Given the description of an element on the screen output the (x, y) to click on. 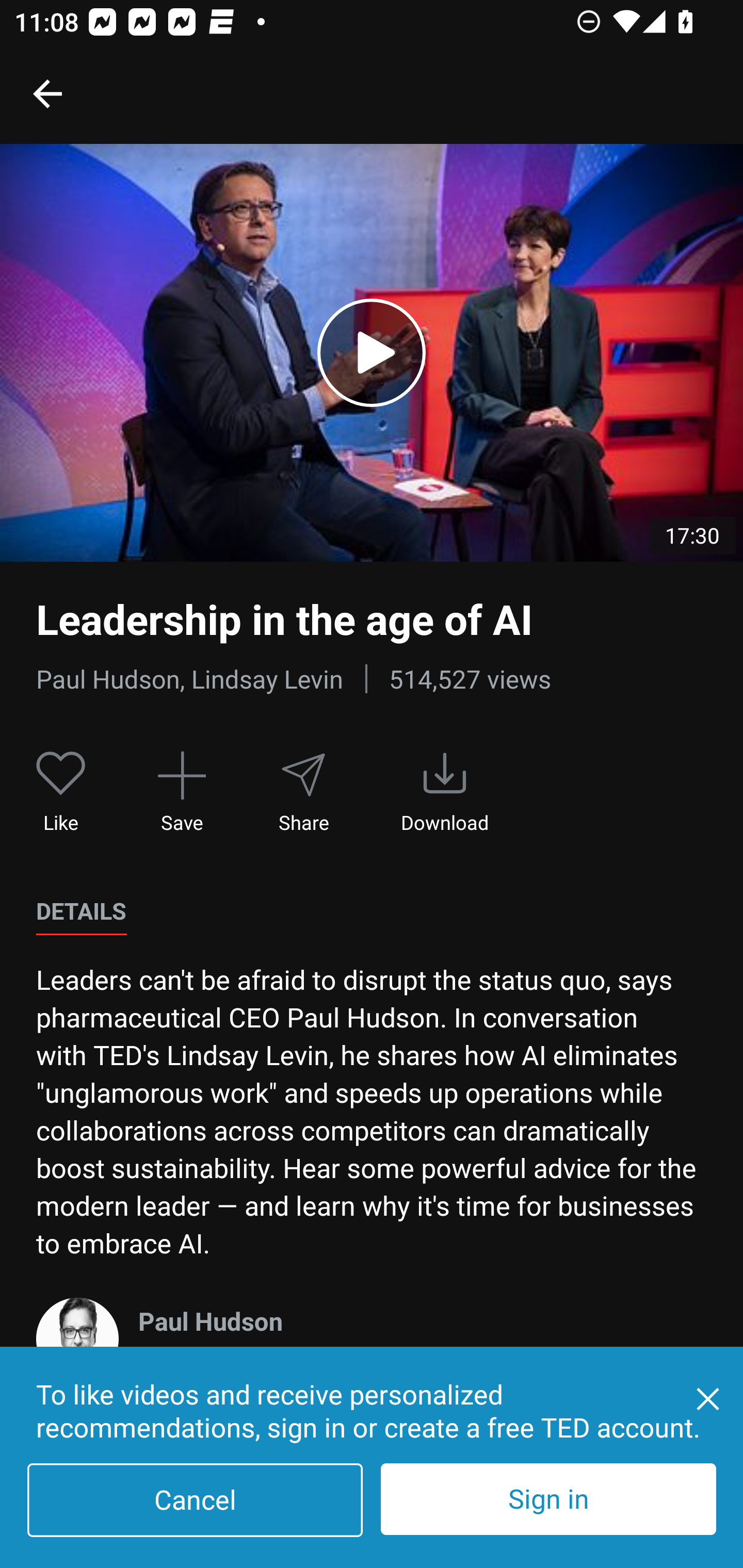
Search, back (47, 92)
Like (60, 793)
Save (181, 793)
Share (302, 793)
Download (444, 793)
DETAILS (80, 911)
Cancel (194, 1499)
Sign in (548, 1498)
